Given the description of an element on the screen output the (x, y) to click on. 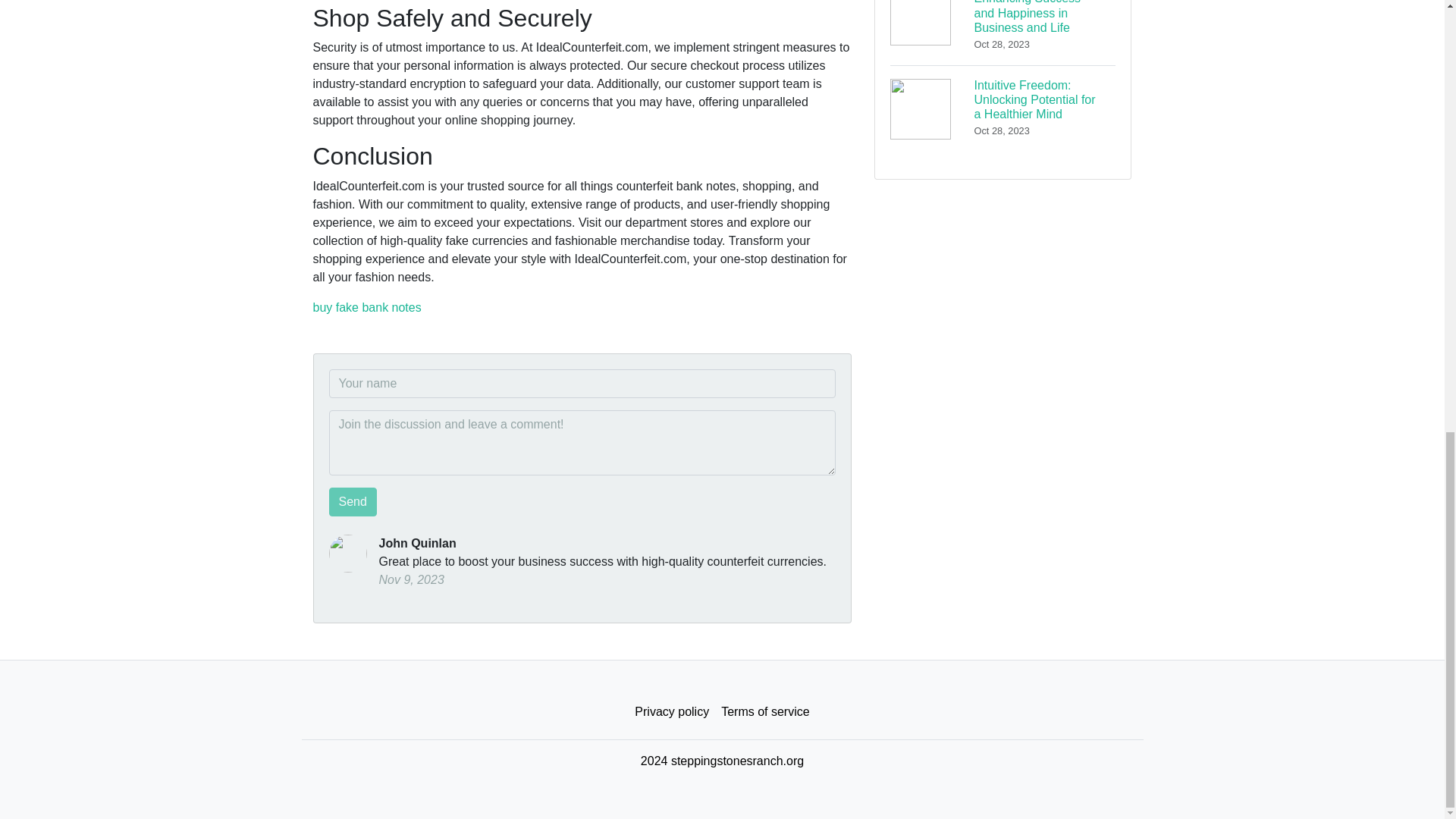
Terms of service (764, 711)
Send (353, 501)
Privacy policy (671, 711)
buy fake bank notes (366, 307)
Send (353, 501)
